Given the description of an element on the screen output the (x, y) to click on. 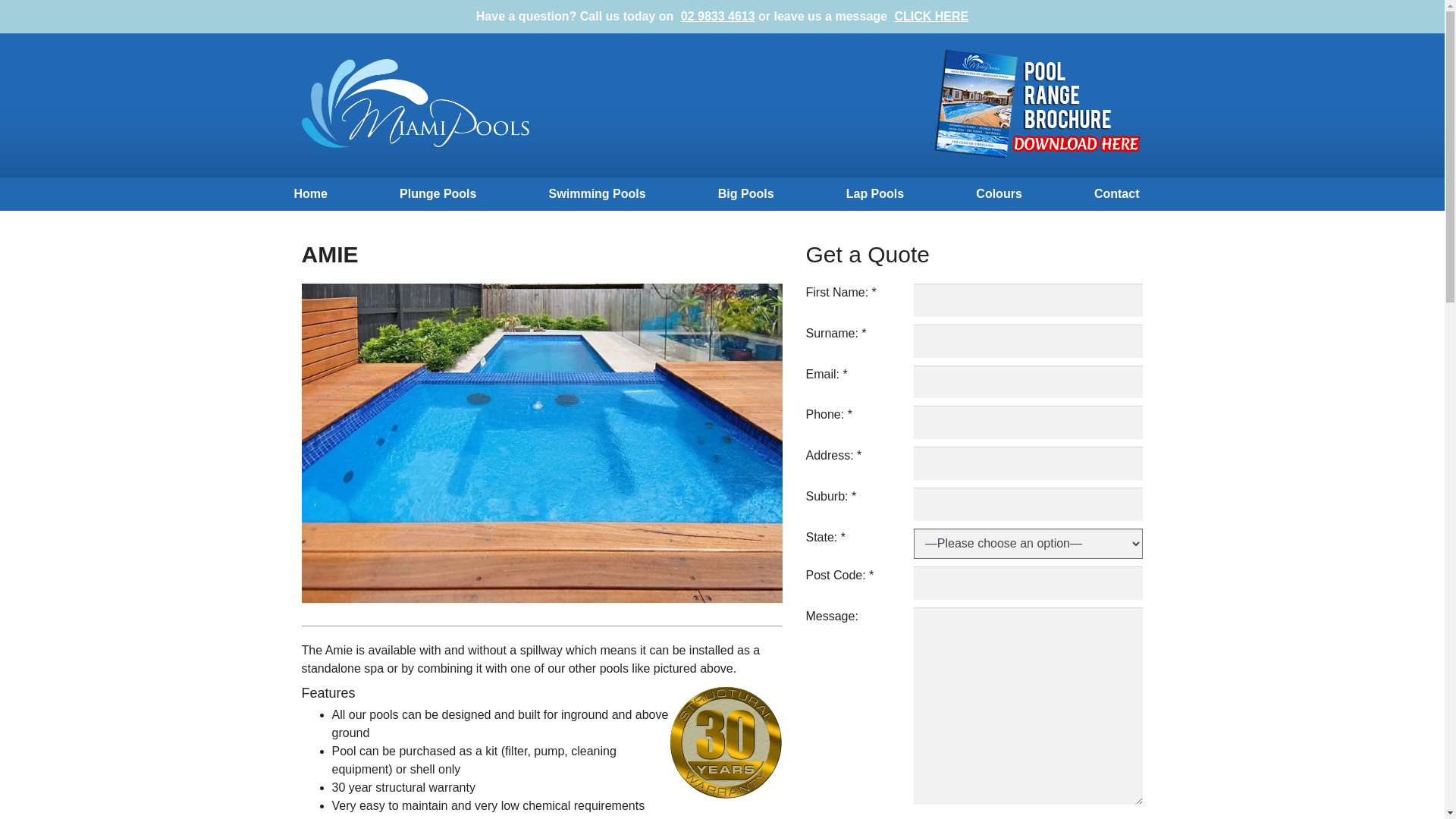
Plunge Pools Element type: text (437, 194)
CLICK HERE Element type: text (931, 15)
Big Pools Element type: text (746, 194)
02 9833 4613 Element type: text (717, 15)
Home Element type: text (309, 194)
Swimming Pools Element type: text (597, 194)
Colours Element type: text (998, 194)
Lap Pools Element type: text (874, 194)
Contact Element type: text (1116, 194)
